Given the description of an element on the screen output the (x, y) to click on. 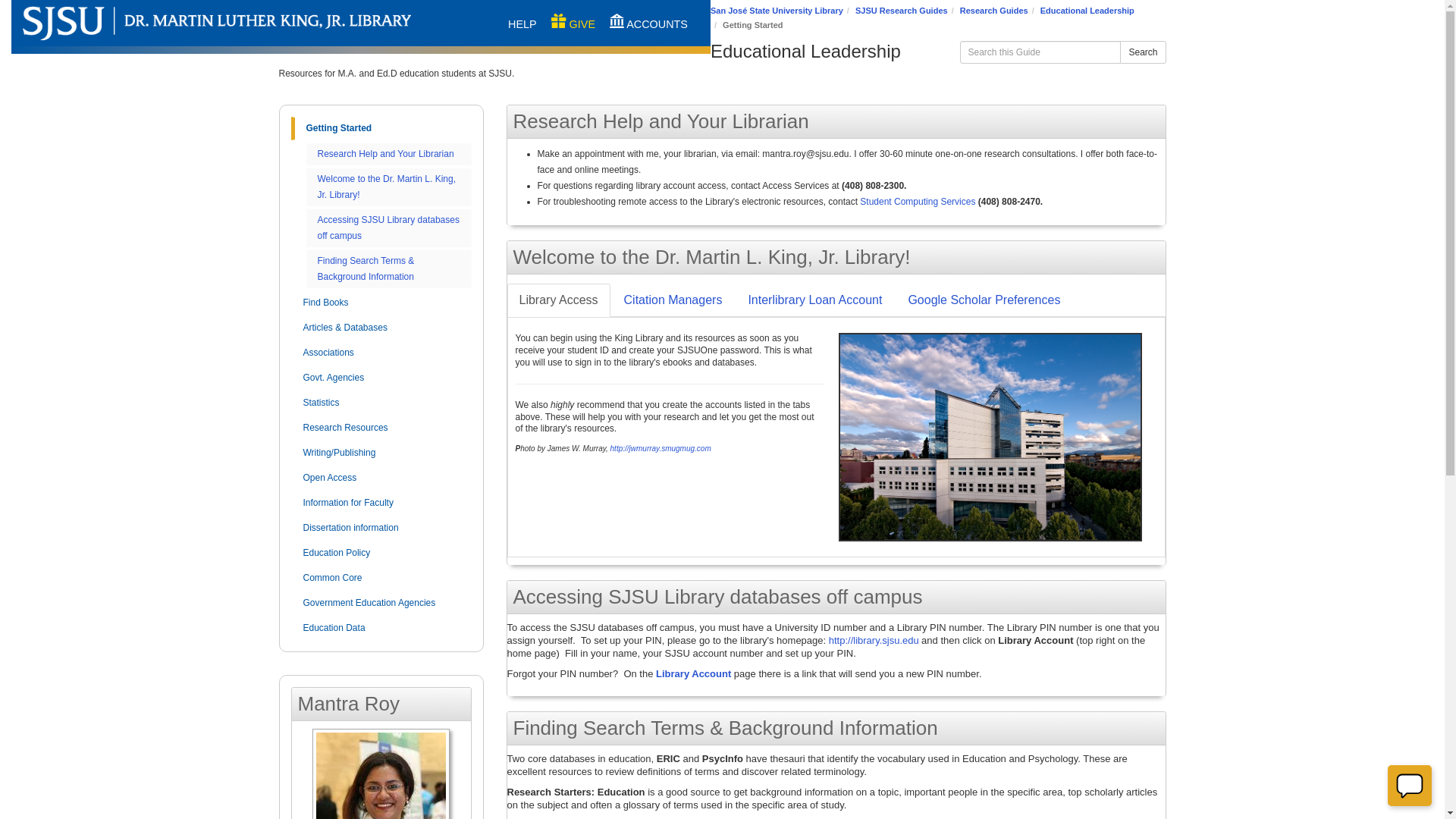
GIVE (573, 24)
Getting Started (381, 128)
Accounts (648, 24)
Student Computing Services (917, 200)
Get Help (522, 24)
Giving to the Library (573, 24)
Welcome to the Dr. Martin L. King, Jr. Library! (386, 185)
SJSU Research Guides (901, 10)
Open Access (381, 477)
Government Education Agencies (381, 603)
Associations (381, 352)
ACCOUNTS (648, 24)
Home (265, 22)
Search (1142, 51)
HELP (522, 24)
